Given the description of an element on the screen output the (x, y) to click on. 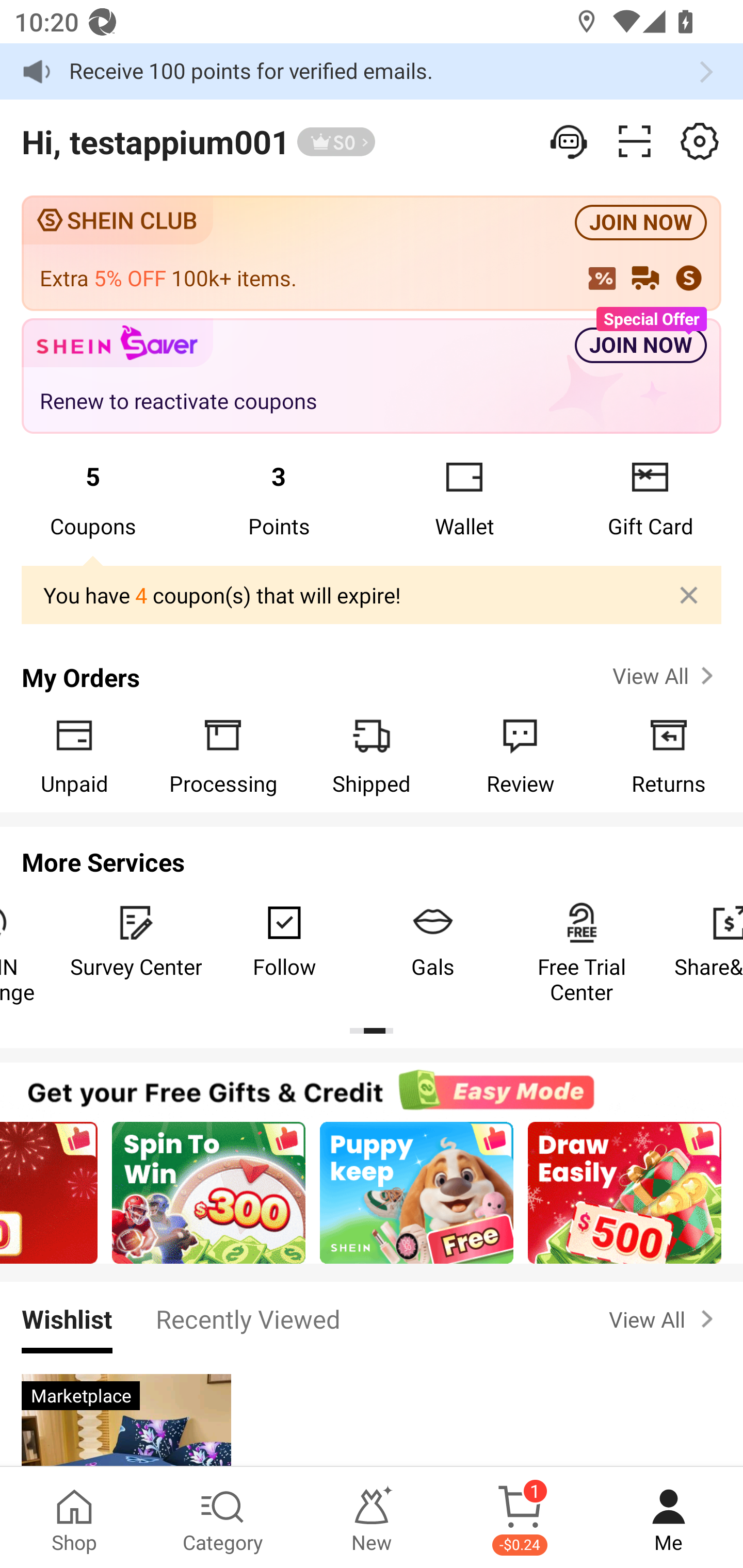
Receive 100 points for verified emails. (371, 70)
Hi, testappium001 (155, 141)
Setting (569, 141)
Scan QR Code (634, 141)
Setting (699, 141)
SHEIN VIP (336, 141)
JOIN NOW Extra 5% OFF 100k+ items. (371, 253)
JOIN NOW (640, 222)
Renew to reactivate coupons JOIN NOW Special Offer (371, 376)
JOIN NOW (640, 345)
5 Coupons (92, 497)
3 Points (278, 497)
Wallet (464, 497)
Gift Card (650, 497)
You have 4 coupon(s) that will expire! Close (371, 596)
Close (688, 594)
View All (664, 675)
Unpaid (74, 754)
Processing (222, 754)
Shipped (371, 754)
Review (519, 754)
Returns (668, 754)
More Services (371, 855)
Survey Center (135, 940)
Follow (284, 940)
Gals (432, 940)
Free Trial Center (581, 952)
Share&Earn (699, 940)
Wishlist Recently Viewed View All (371, 1318)
Recently Viewed (248, 1318)
View All (664, 1319)
Shop (74, 1517)
Category (222, 1517)
New (371, 1517)
Cart 1 -$0.24 (519, 1517)
